Given the description of an element on the screen output the (x, y) to click on. 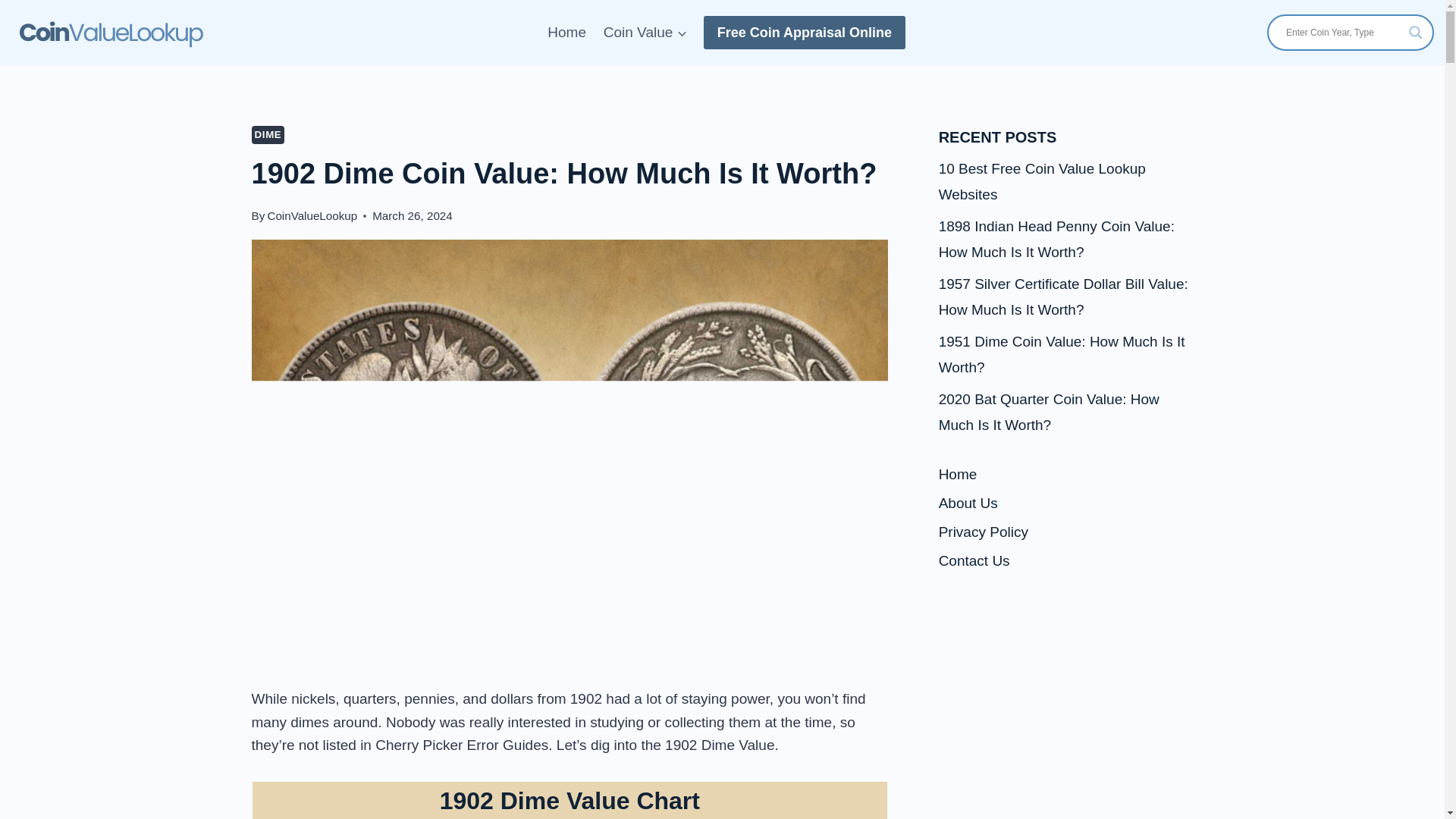
CoinValueLookup (311, 215)
DIME (268, 135)
Coin Value (644, 32)
Home (566, 32)
Free Coin Appraisal Online (804, 31)
